Given the description of an element on the screen output the (x, y) to click on. 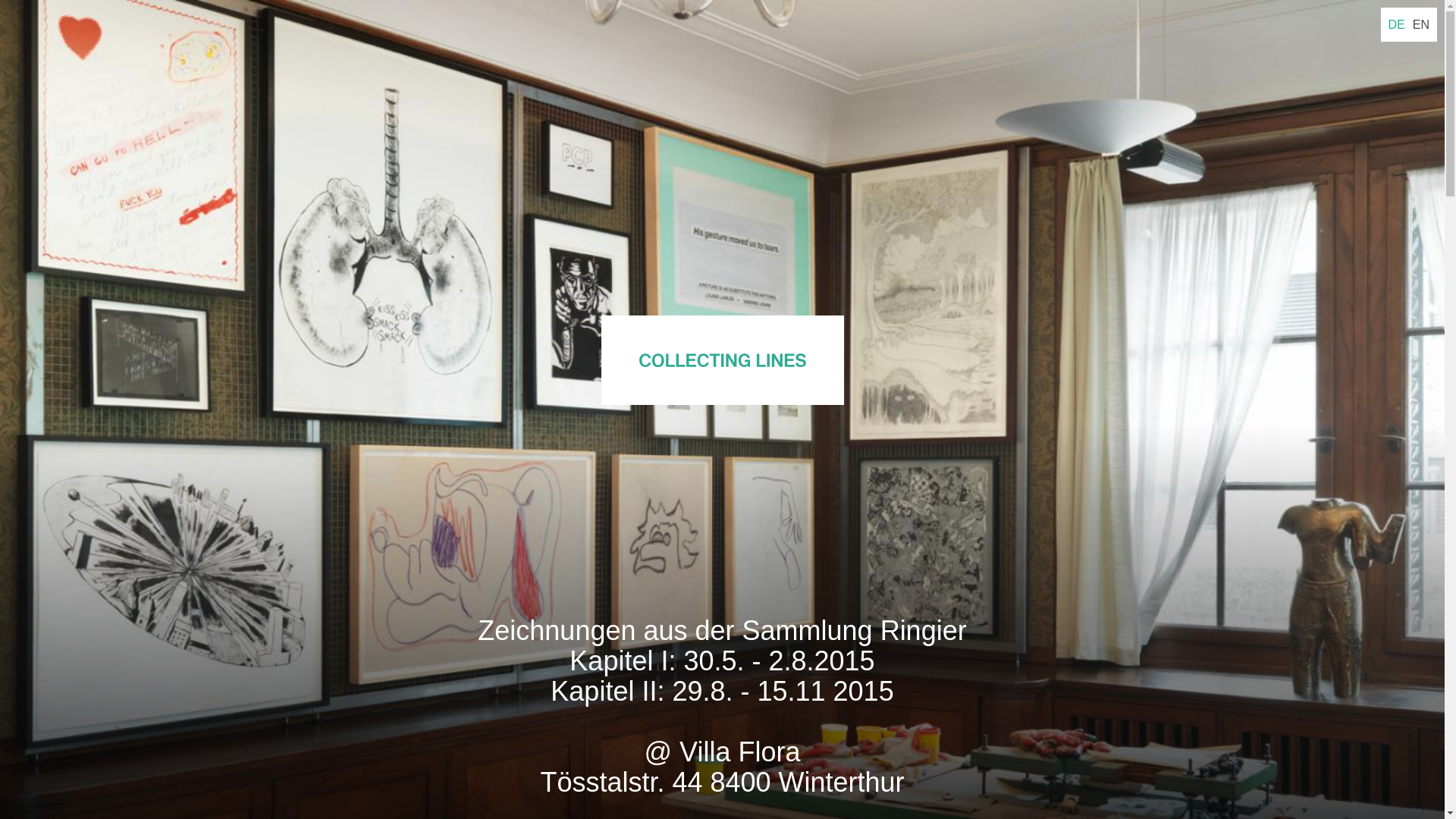
DE Element type: text (1396, 24)
Skip to main content Element type: text (0, 0)
EN Element type: text (1420, 24)
